Given the description of an element on the screen output the (x, y) to click on. 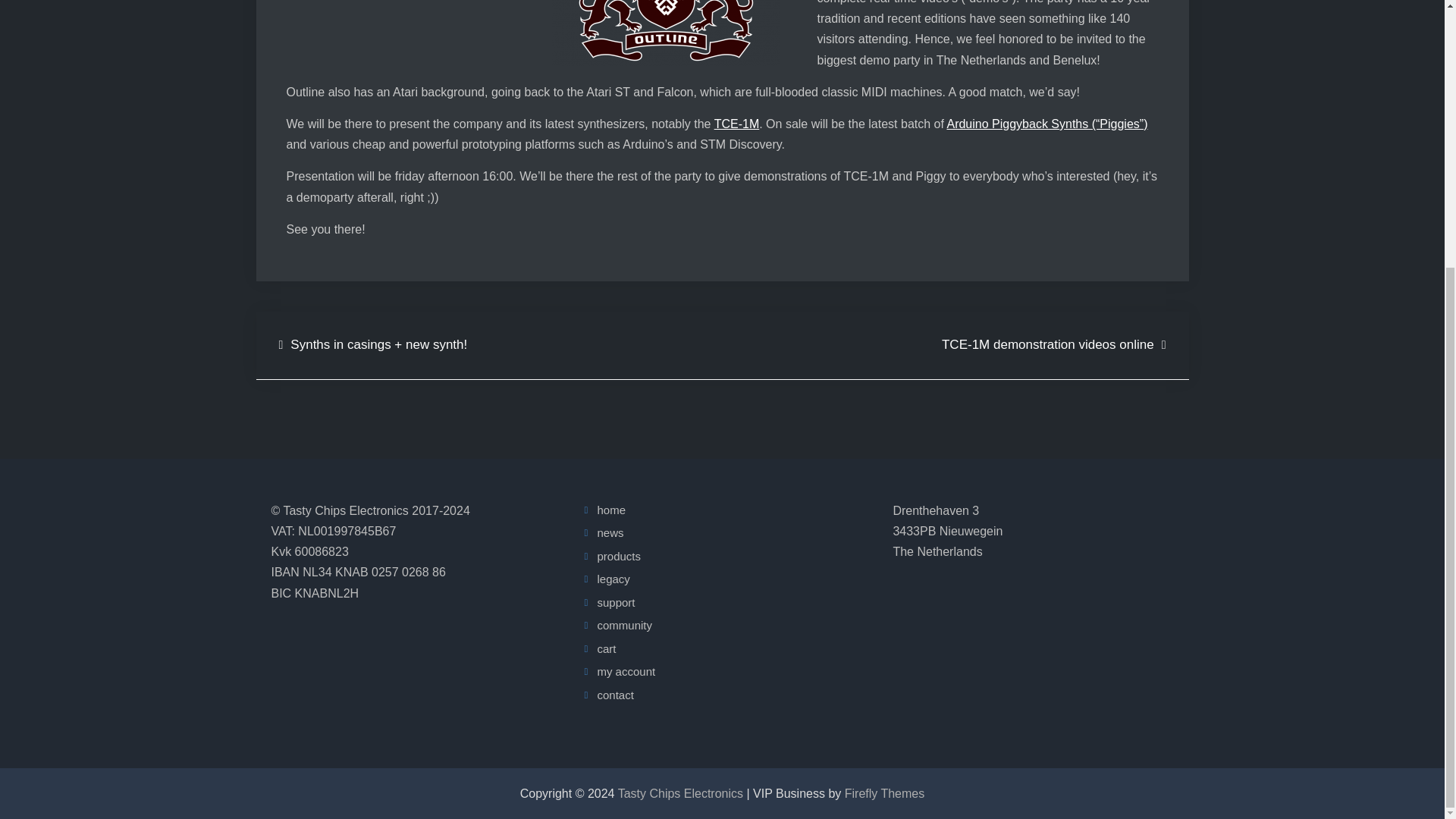
contact (614, 694)
news (609, 532)
community (624, 625)
Firefly Themes (884, 793)
support (615, 602)
my account (625, 671)
TCE-1M (737, 123)
Tasty Chips Electronics (679, 793)
home (611, 509)
TCE-1M demonstration videos online (1054, 345)
cart (605, 648)
legacy (612, 578)
products (618, 555)
